Given the description of an element on the screen output the (x, y) to click on. 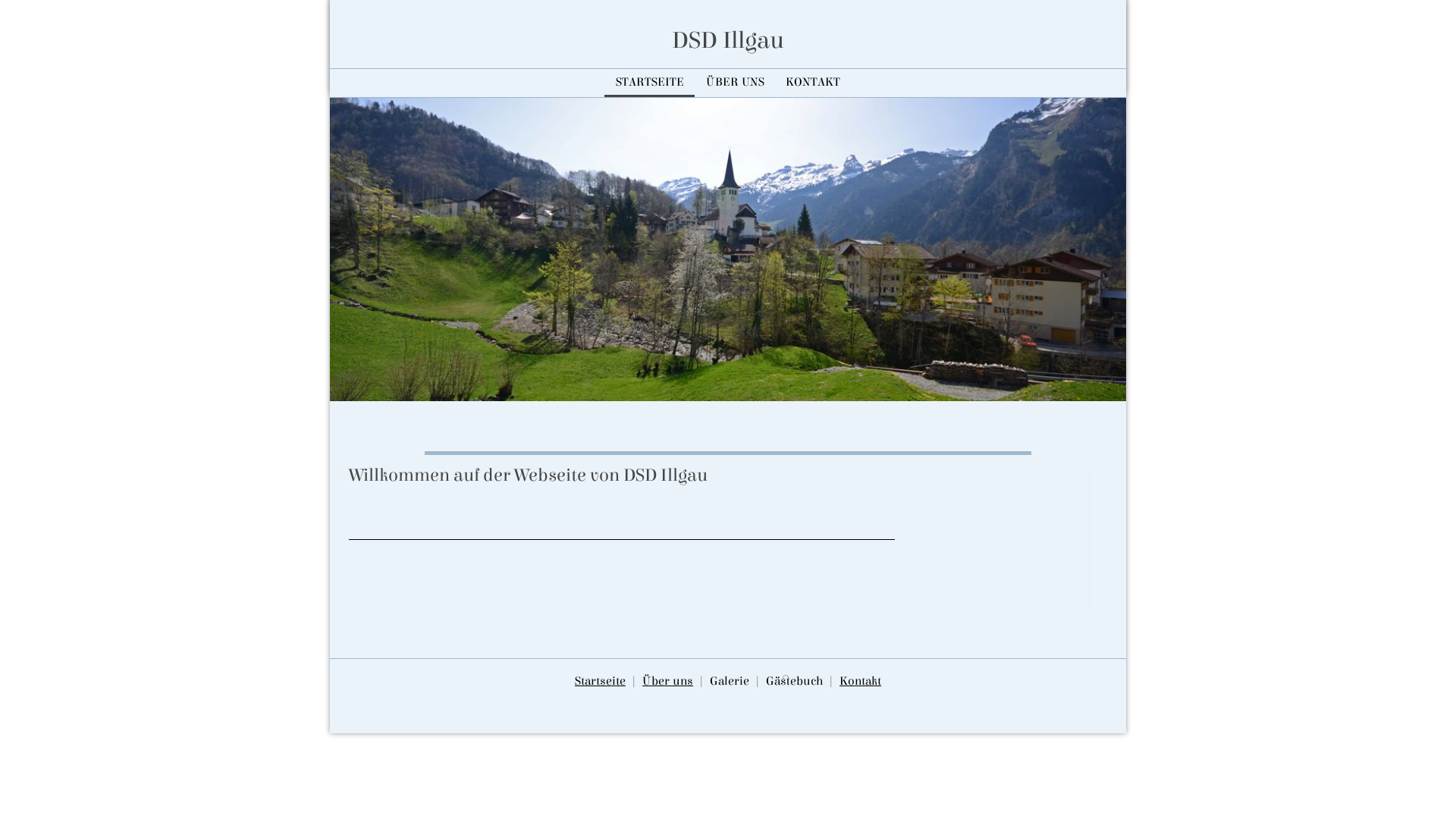
Kontakt Element type: text (860, 680)
STARTSEITE Element type: text (649, 81)
Startseite Element type: text (599, 680)
KONTAKT Element type: text (813, 81)
